Given the description of an element on the screen output the (x, y) to click on. 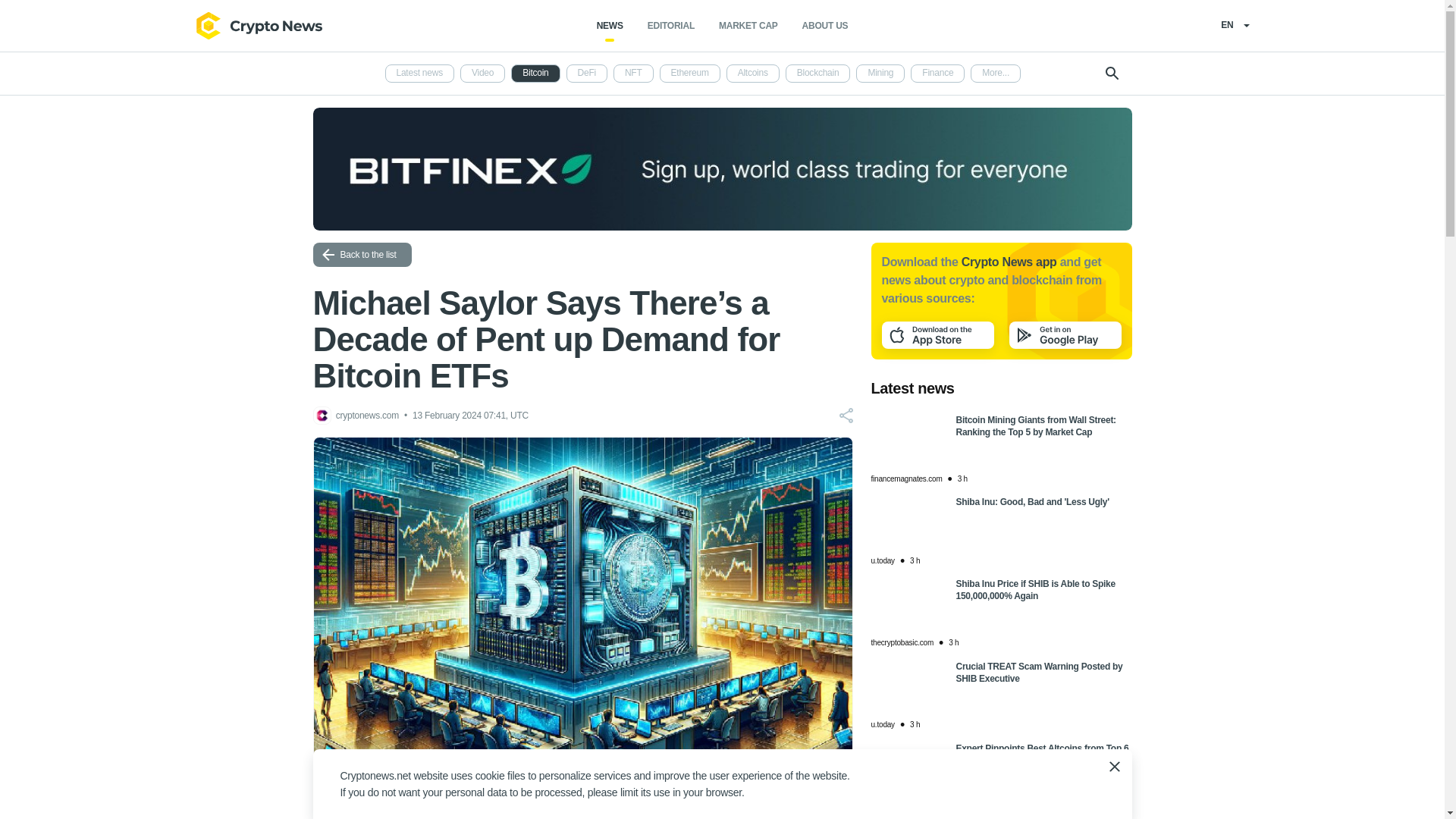
Latest news (419, 73)
ABOUT US (825, 25)
NFT (632, 73)
DeFi (586, 73)
Mining (880, 73)
MARKET CAP (748, 25)
Finance (937, 73)
Blockchain (818, 73)
Ethereum (689, 73)
Video (482, 73)
Altcoins (752, 73)
EDITORIAL (670, 25)
NEWS (609, 25)
